Given the description of an element on the screen output the (x, y) to click on. 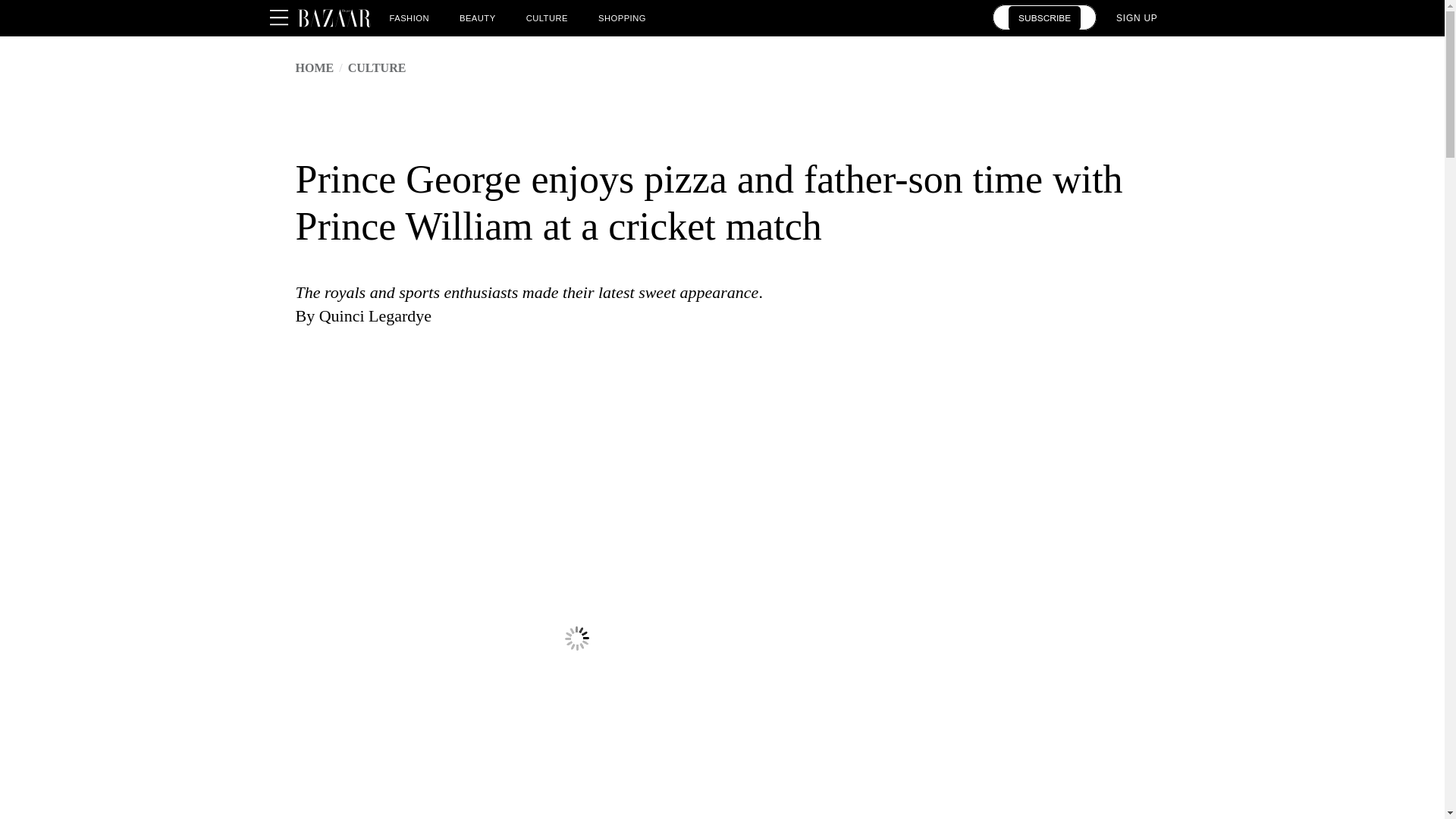
HOME (314, 67)
SHOPPING (622, 17)
SIGN UP (1136, 17)
CULTURE (376, 67)
BEAUTY (478, 17)
FASHION (409, 17)
Go to Harper's Bazaar Australia. (314, 67)
Go to the Culture category archives. (376, 67)
CULTURE (546, 17)
